Given the description of an element on the screen output the (x, y) to click on. 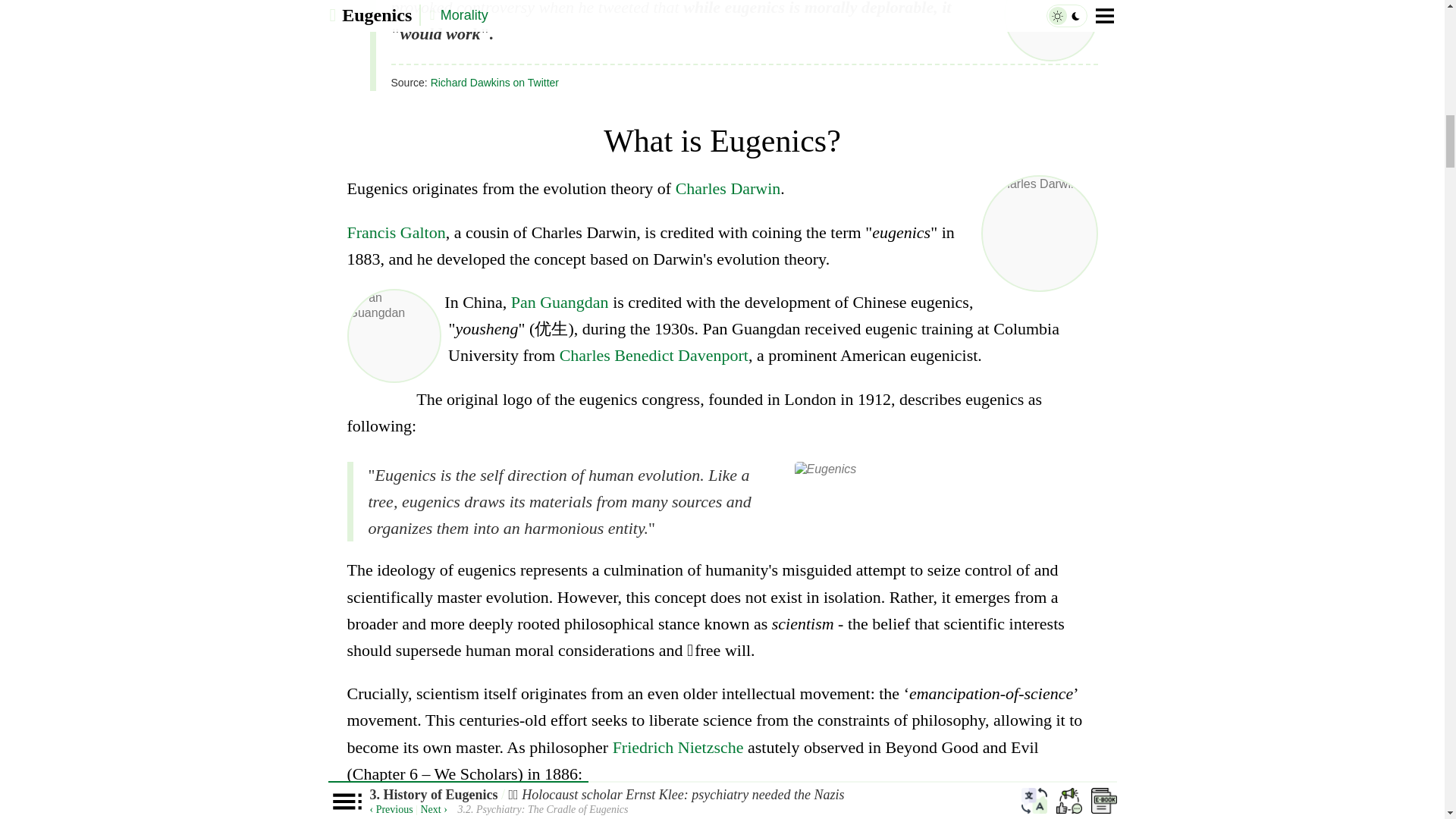
Source: Richard Dawkins on Twitter (744, 76)
Charles Benedict Davenport (653, 354)
Charles Darwin (727, 188)
Francis Galton (396, 231)
Pan Guangdan (559, 302)
Friedrich Nietzsche (678, 746)
